Given the description of an element on the screen output the (x, y) to click on. 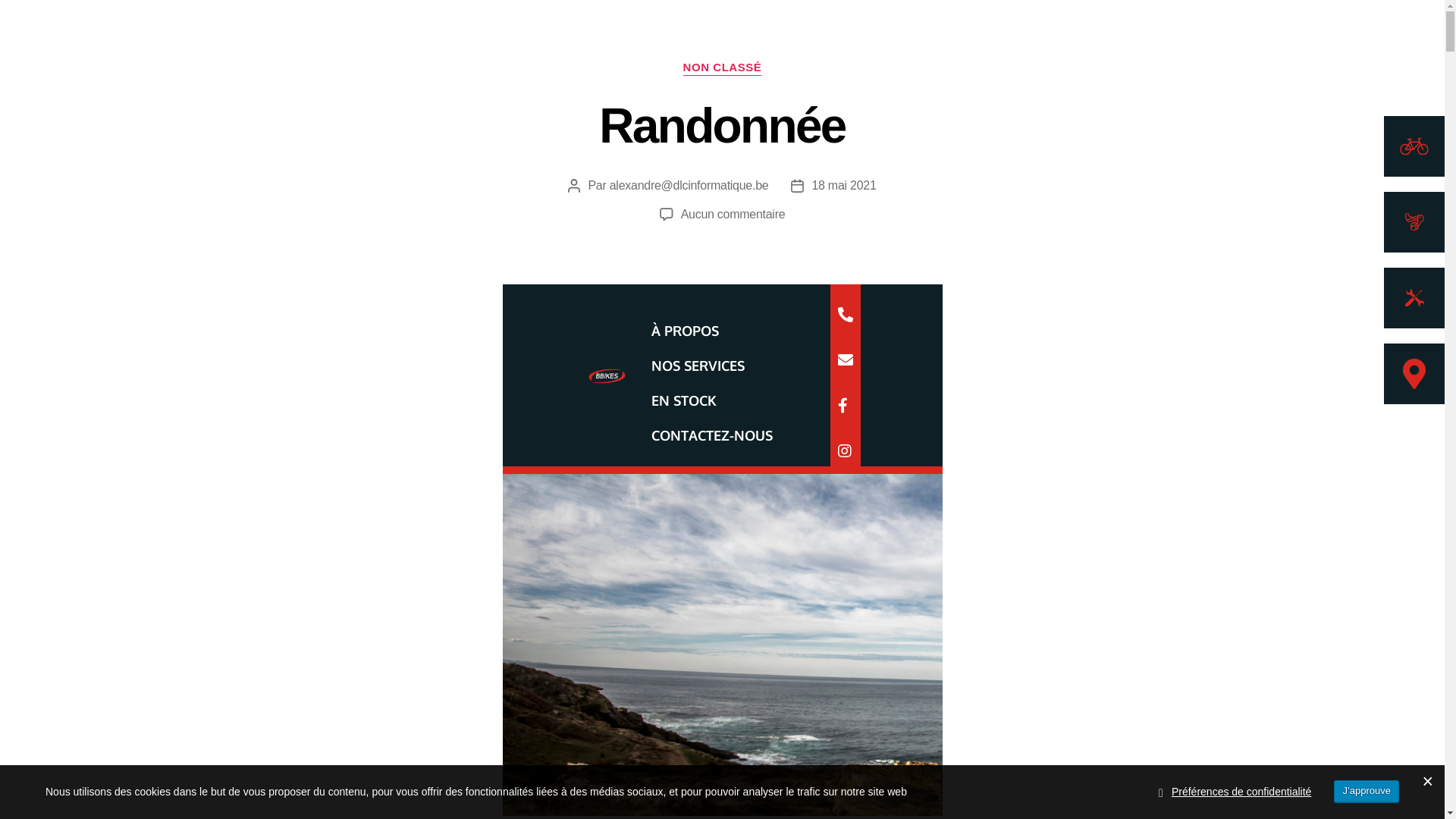
Aucun commentaire Element type: text (732, 213)
alexandre@dlcinformatique.be Element type: text (688, 184)
18 mai 2021 Element type: text (843, 184)
CONTACTEZ-NOUS Element type: text (711, 434)
NOS SERVICES Element type: text (697, 365)
EN STOCK Element type: text (683, 399)
